Given the description of an element on the screen output the (x, y) to click on. 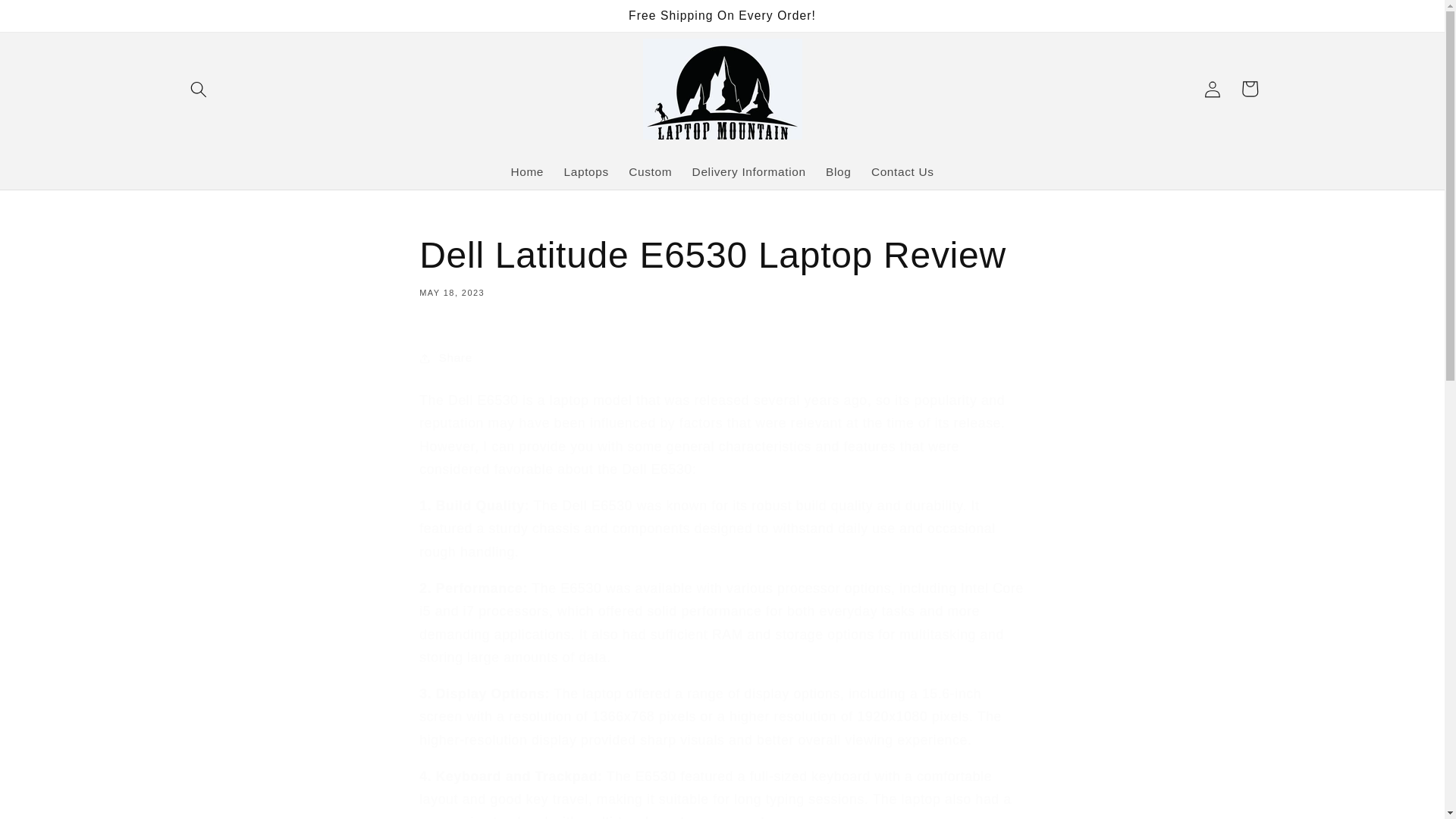
Share (722, 357)
Custom (649, 171)
Blog (838, 171)
Home (526, 171)
Contact Us (902, 171)
Skip to content (50, 19)
Delivery Information (748, 171)
Cart (1249, 88)
Laptops (722, 264)
Log in (585, 171)
